Given the description of an element on the screen output the (x, y) to click on. 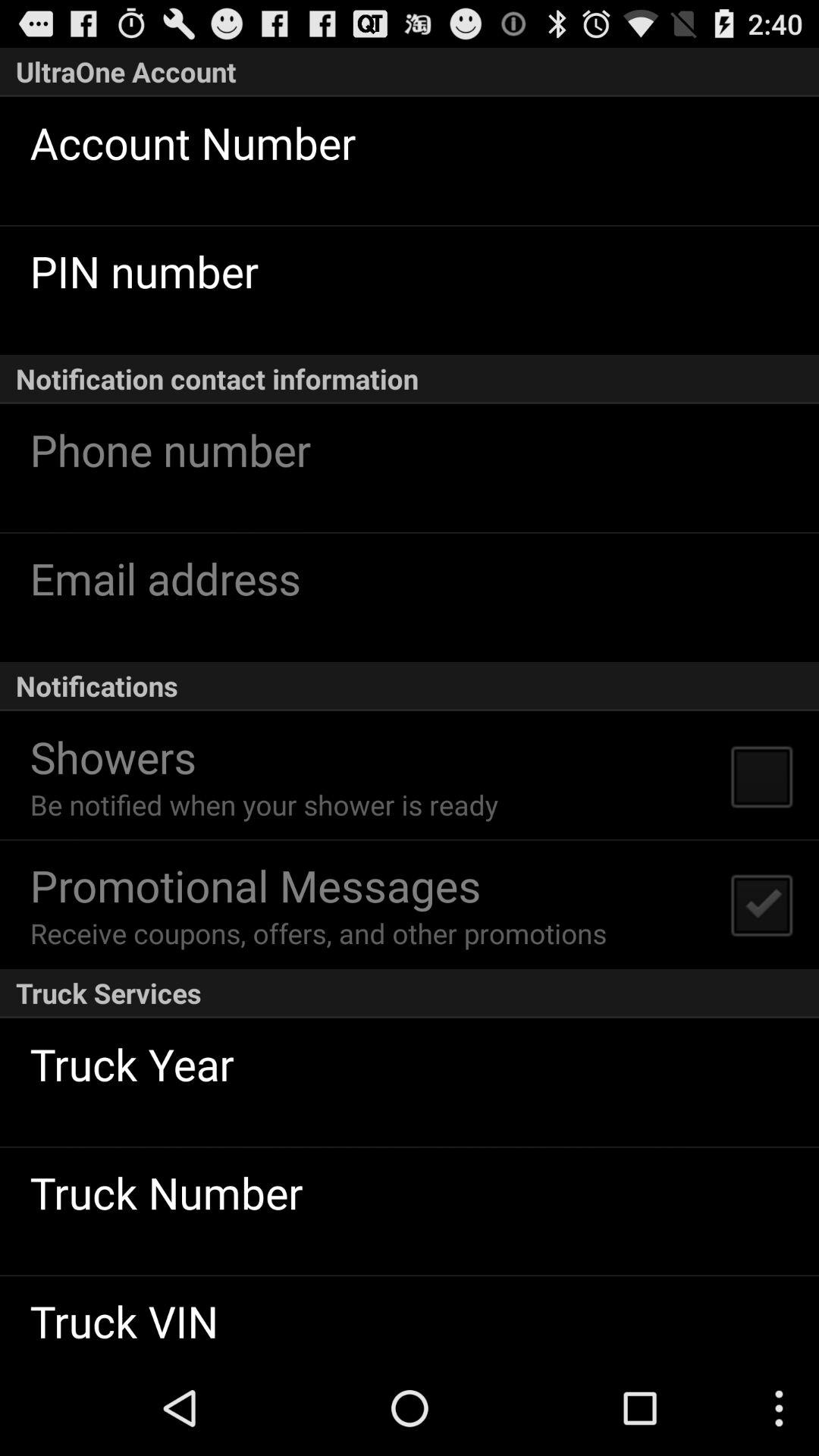
click on the button icon which on right to promotional messages (761, 904)
